Given the description of an element on the screen output the (x, y) to click on. 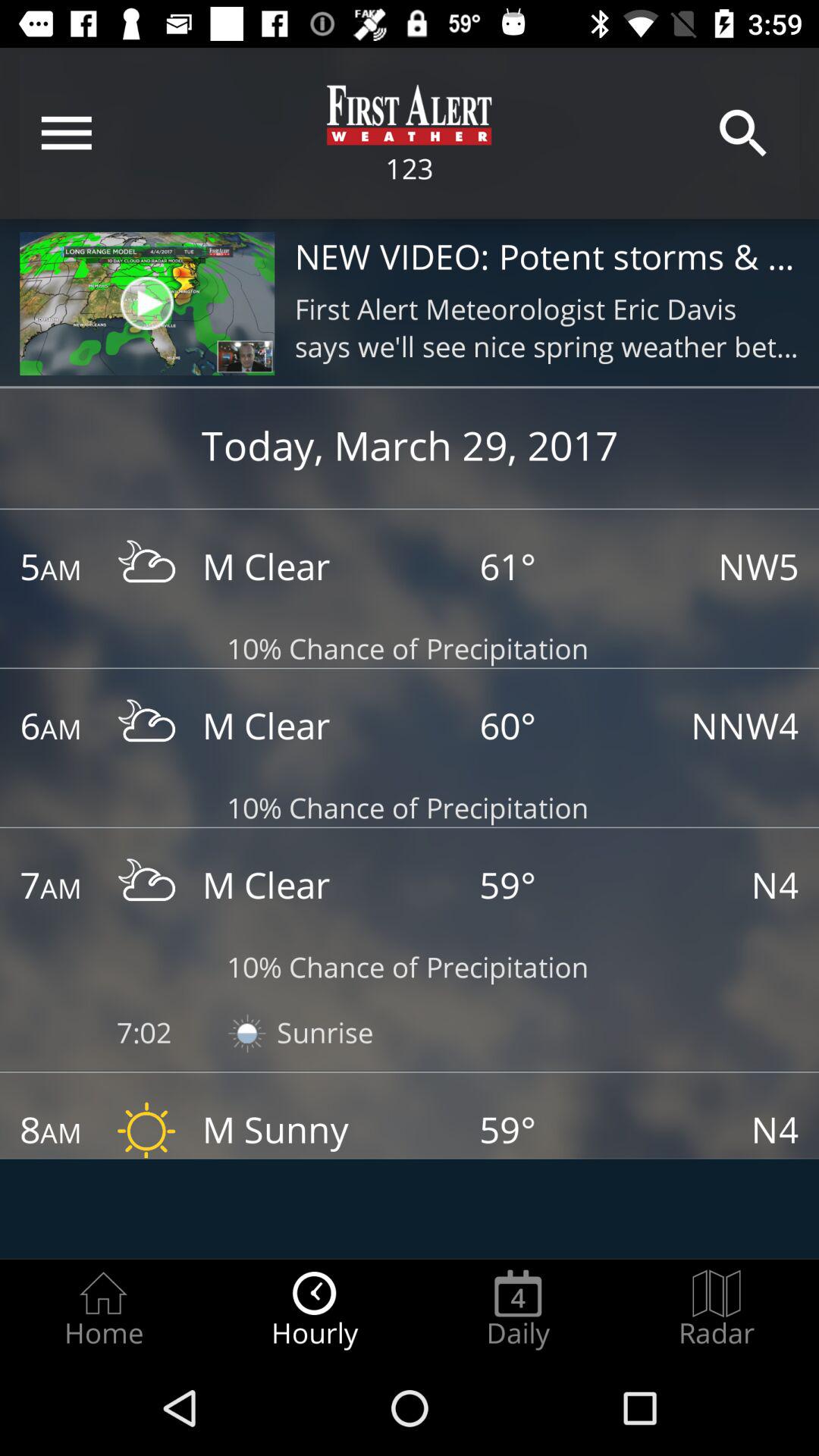
open item next to the radar radio button (518, 1309)
